Given the description of an element on the screen output the (x, y) to click on. 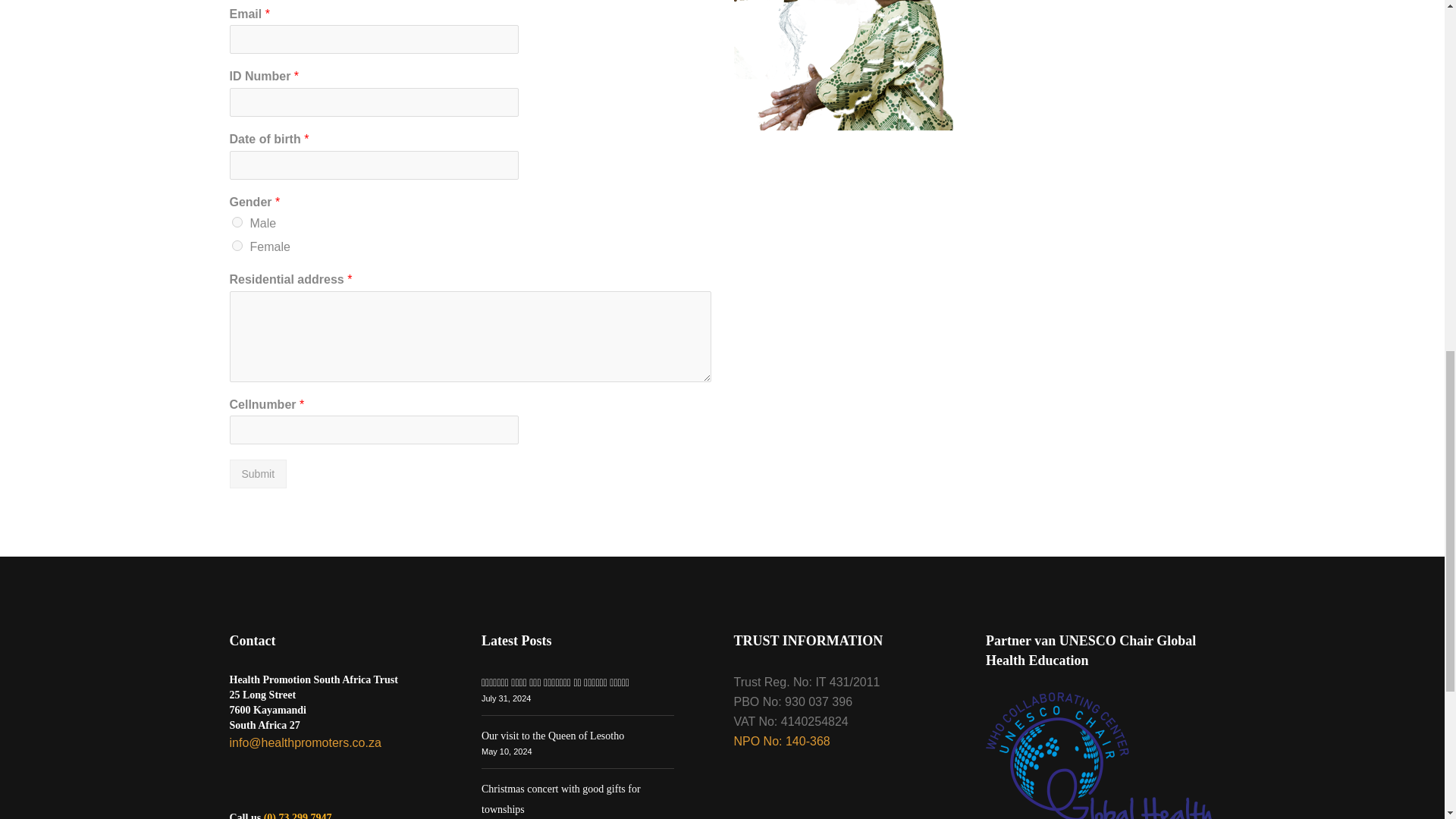
Female (237, 245)
Male (237, 222)
handen wassen zonder kraan 6def (846, 65)
